Given the description of an element on the screen output the (x, y) to click on. 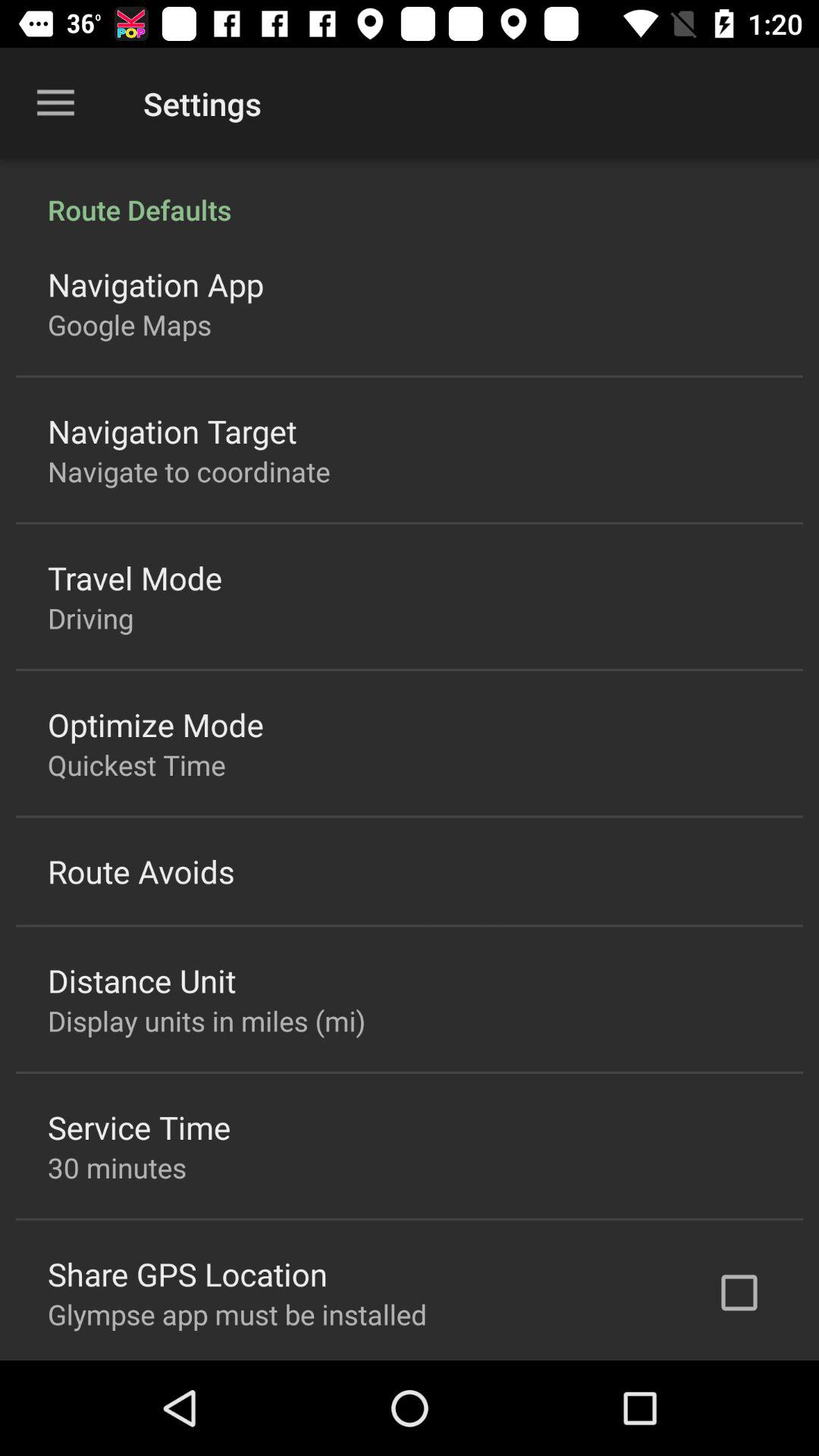
turn on quickest time (136, 764)
